Given the description of an element on the screen output the (x, y) to click on. 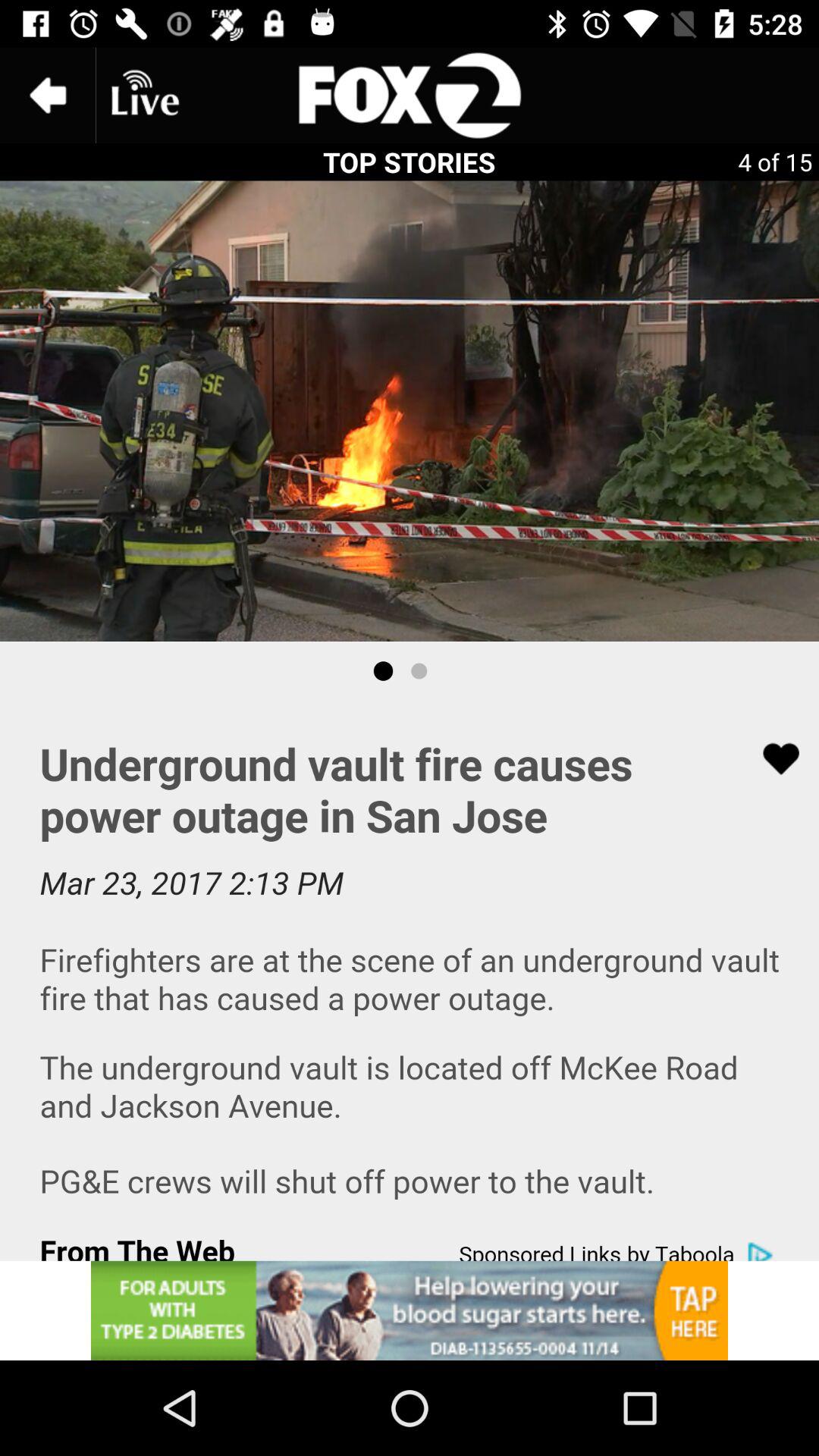
go to homepage (409, 95)
